Given the description of an element on the screen output the (x, y) to click on. 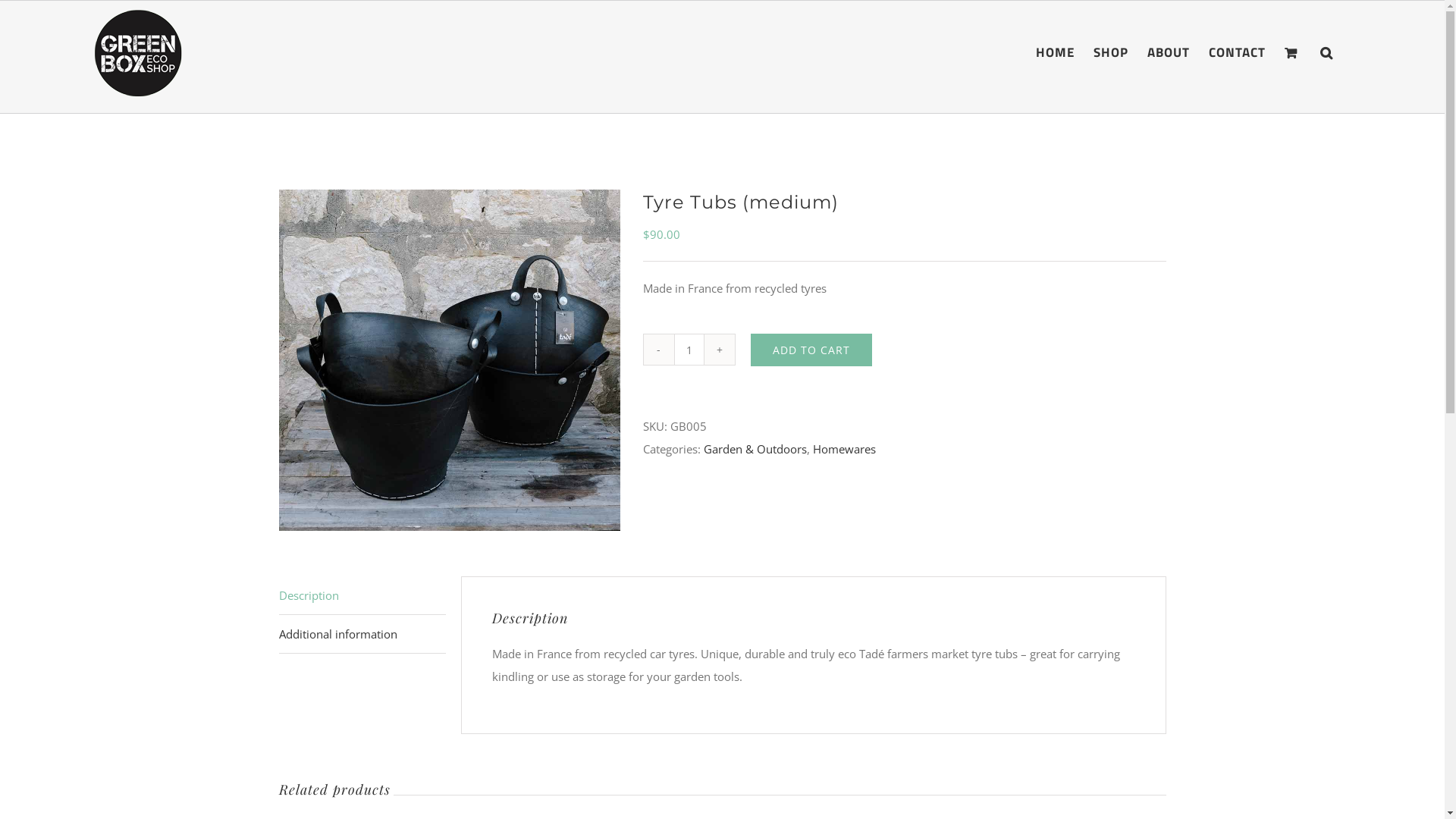
Garden & Outdoors Element type: text (754, 448)
Additional information Element type: text (362, 634)
ABOUT Element type: text (1168, 50)
Search Element type: hover (1326, 50)
tyre-tubs Element type: hover (449, 359)
CONTACT Element type: text (1236, 50)
Description Element type: text (362, 595)
Homewares Element type: text (843, 448)
ADD TO CART Element type: text (811, 349)
SHOP Element type: text (1110, 50)
HOME Element type: text (1054, 50)
